Given the description of an element on the screen output the (x, y) to click on. 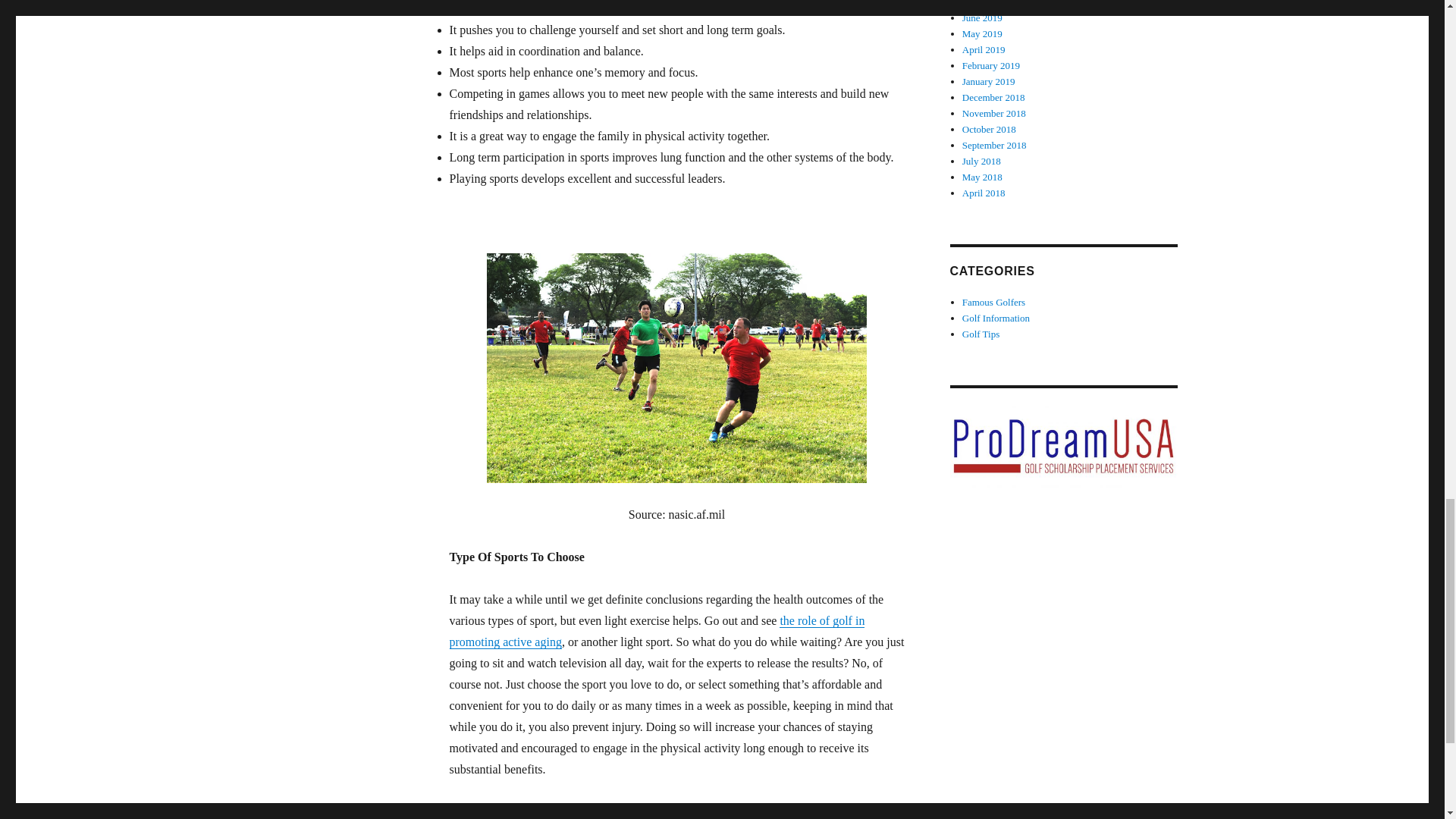
May 2019 (982, 33)
anxiety and depression (569, 7)
October 2019 (989, 4)
April 2019 (984, 49)
the role of golf in promoting active aging (656, 631)
June 2019 (982, 17)
